Given the description of an element on the screen output the (x, y) to click on. 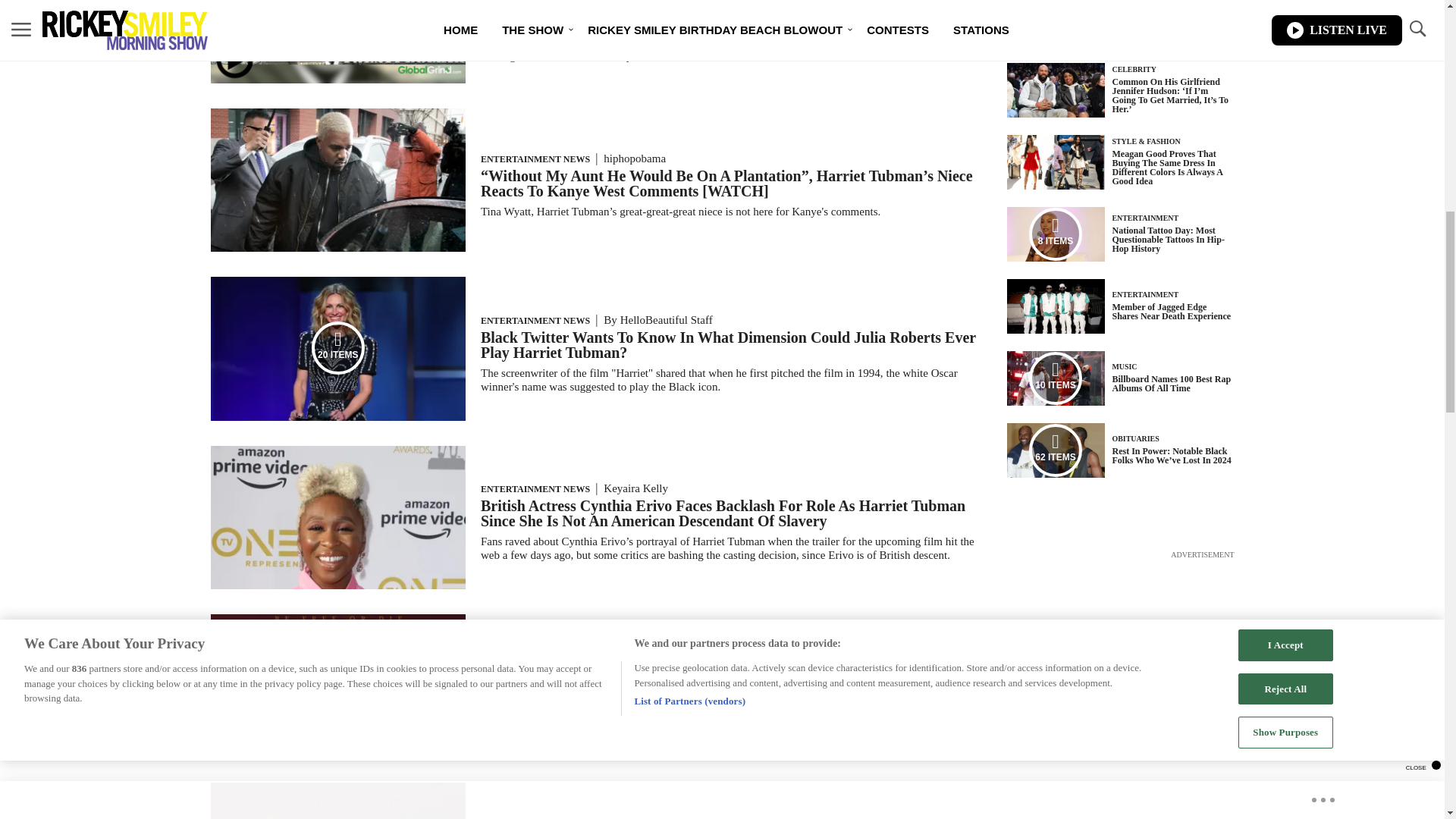
9 ITEMS (338, 753)
ENTERTAINMENT NEWS (534, 320)
Media Playlist (1055, 378)
ENTERTAINMENT NEWS (534, 489)
Media Playlist (1055, 234)
20 ITEMS (338, 416)
3rd party ad content (1120, 657)
Shamika Sanders (643, 650)
Media Playlist (338, 685)
ENTERTAINMENT NEWS (534, 158)
Media Playlist (1055, 450)
Media Playlist (338, 347)
ENTERTAINMENT NEWS (534, 651)
